Given the description of an element on the screen output the (x, y) to click on. 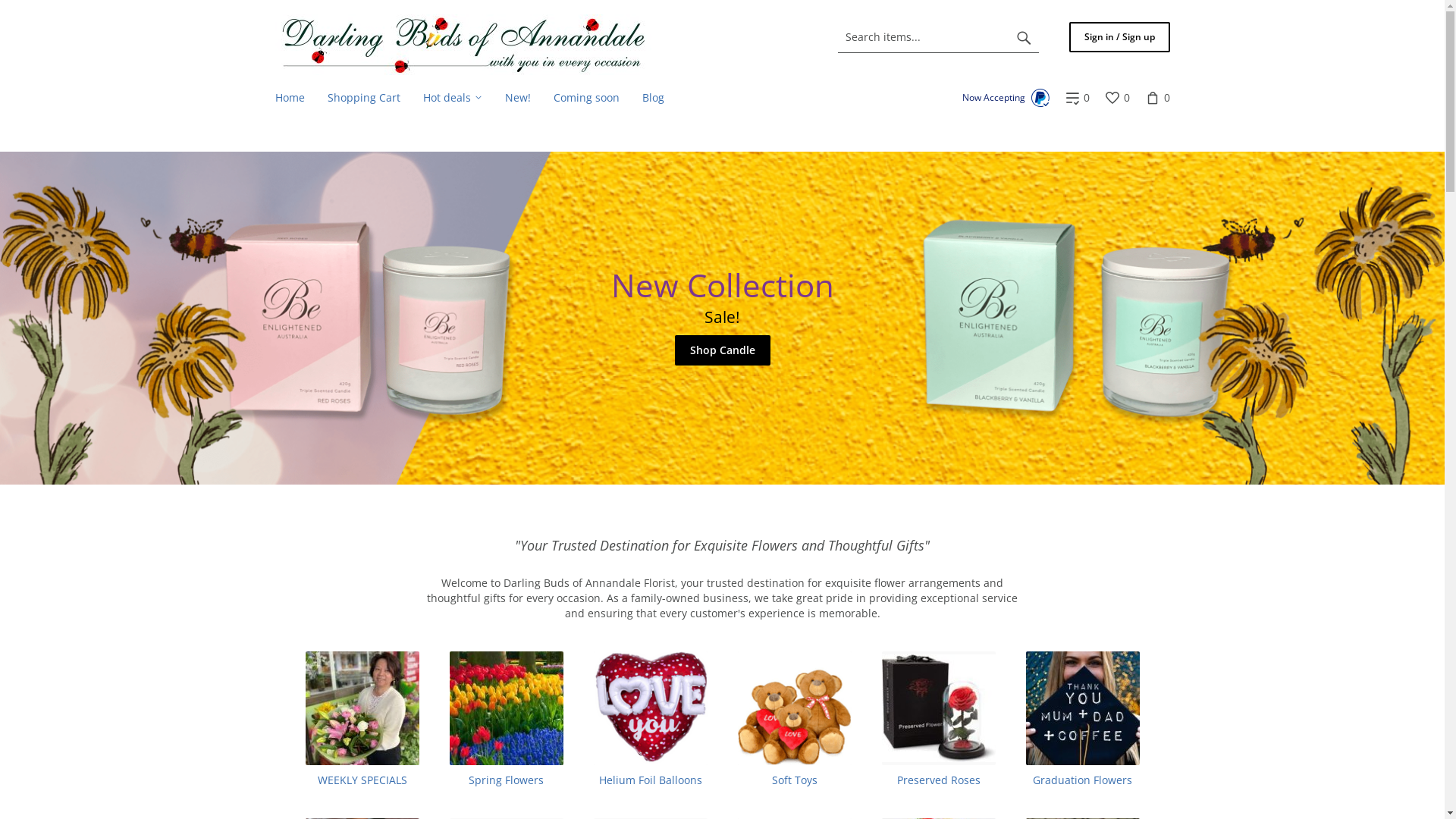
0 Element type: text (1116, 97)
Spring Flowers Element type: text (505, 719)
Preserved Roses Element type: text (937, 719)
Helium Foil Balloons Element type: text (649, 719)
Soft Toys Element type: text (793, 719)
Home Element type: text (289, 97)
Coming soon Element type: text (585, 97)
Sign in / Sign up Element type: text (1119, 36)
Shopping Cart Element type: text (363, 97)
0 Element type: text (1076, 97)
Home Element type: hover (463, 44)
Blog Element type: text (652, 97)
Shop Candle Element type: text (722, 350)
New! Element type: text (516, 97)
Search Element type: hover (1023, 36)
WEEKLY SPECIALS Element type: text (361, 719)
Graduation Flowers Element type: text (1082, 719)
